Given the description of an element on the screen output the (x, y) to click on. 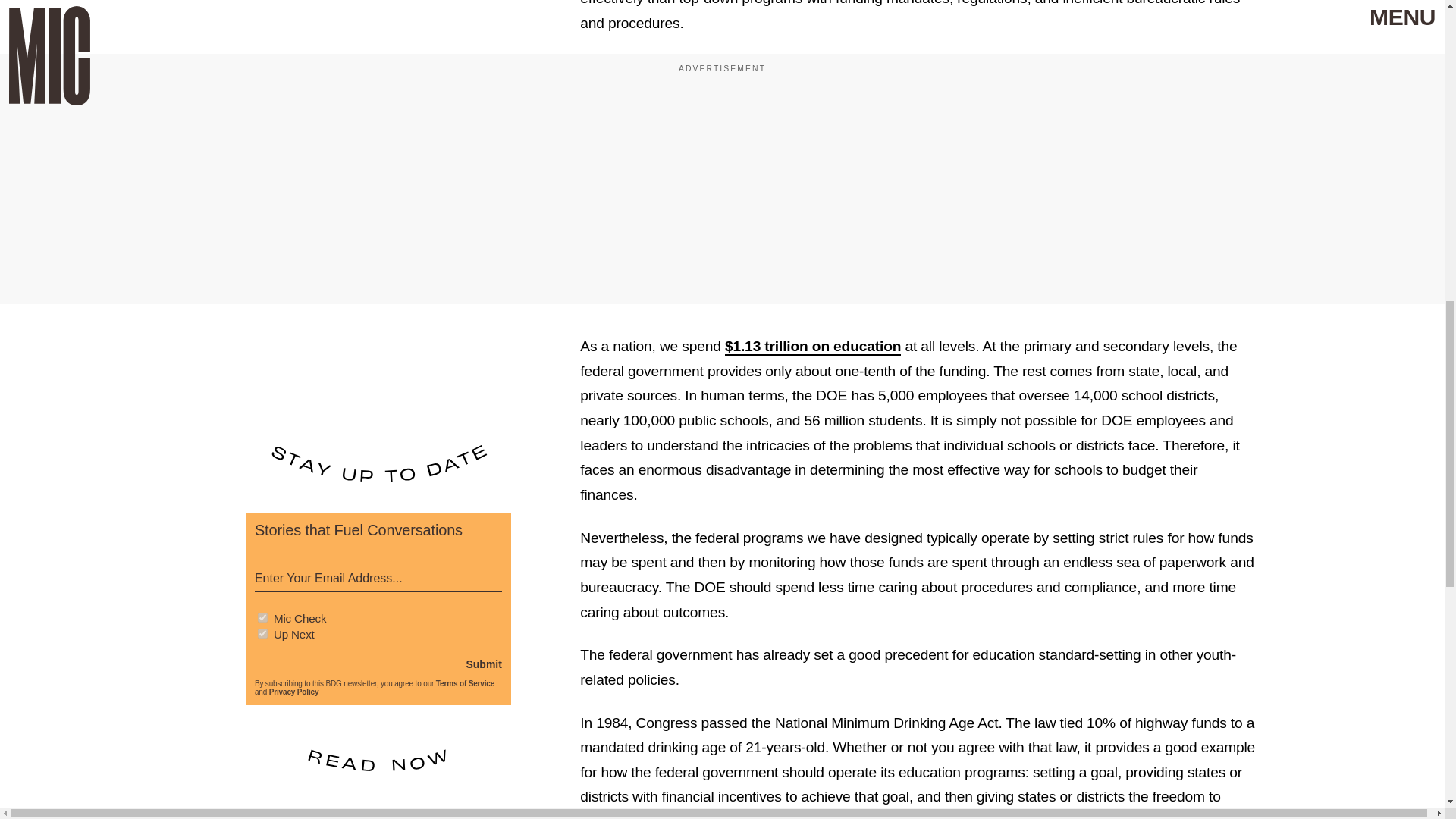
Submit (482, 664)
Terms of Service (465, 683)
Privacy Policy (293, 691)
